Given the description of an element on the screen output the (x, y) to click on. 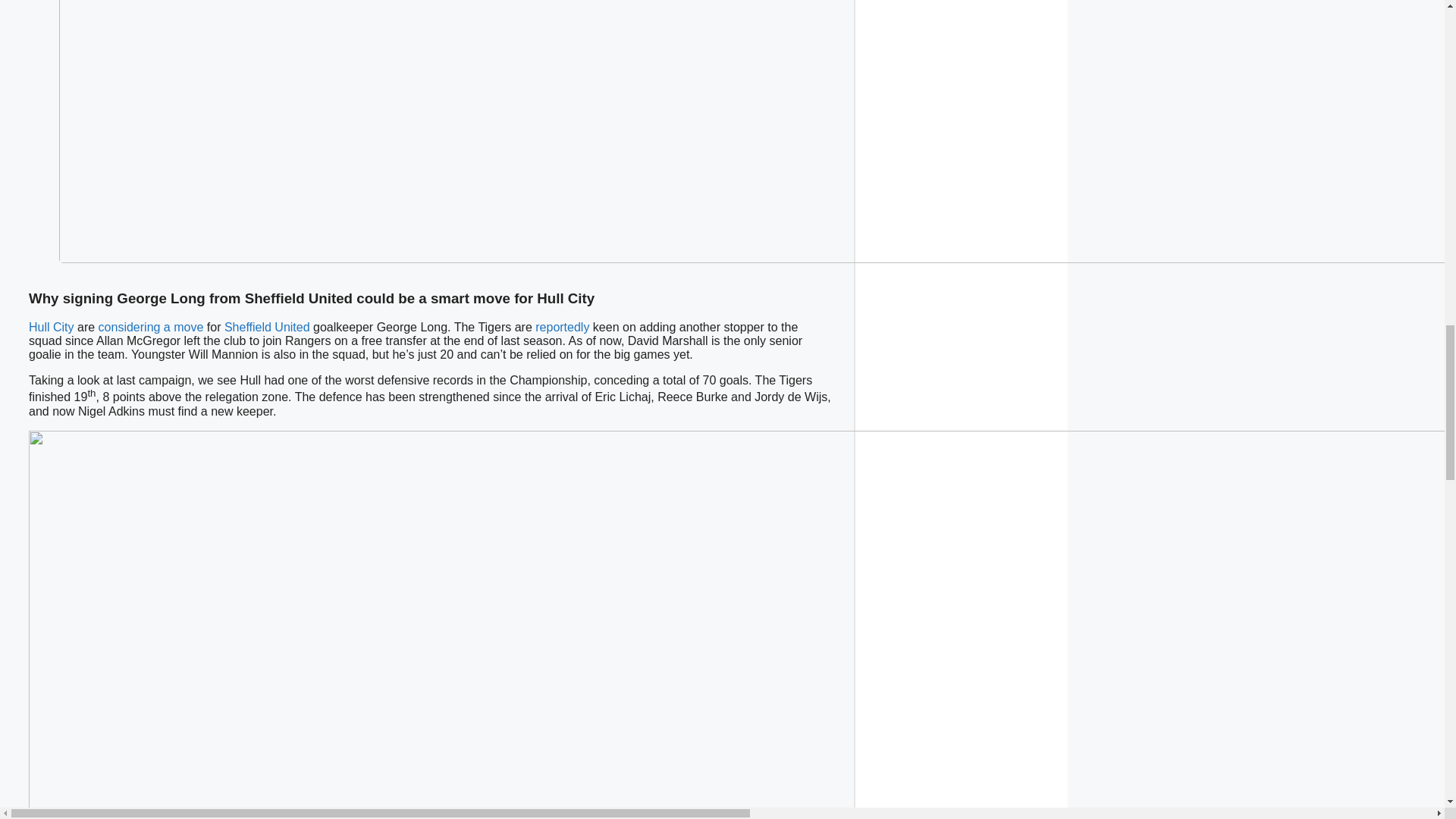
Hull City (51, 327)
reportedly (562, 327)
Sheffield United (267, 327)
considering a move (151, 327)
